Given the description of an element on the screen output the (x, y) to click on. 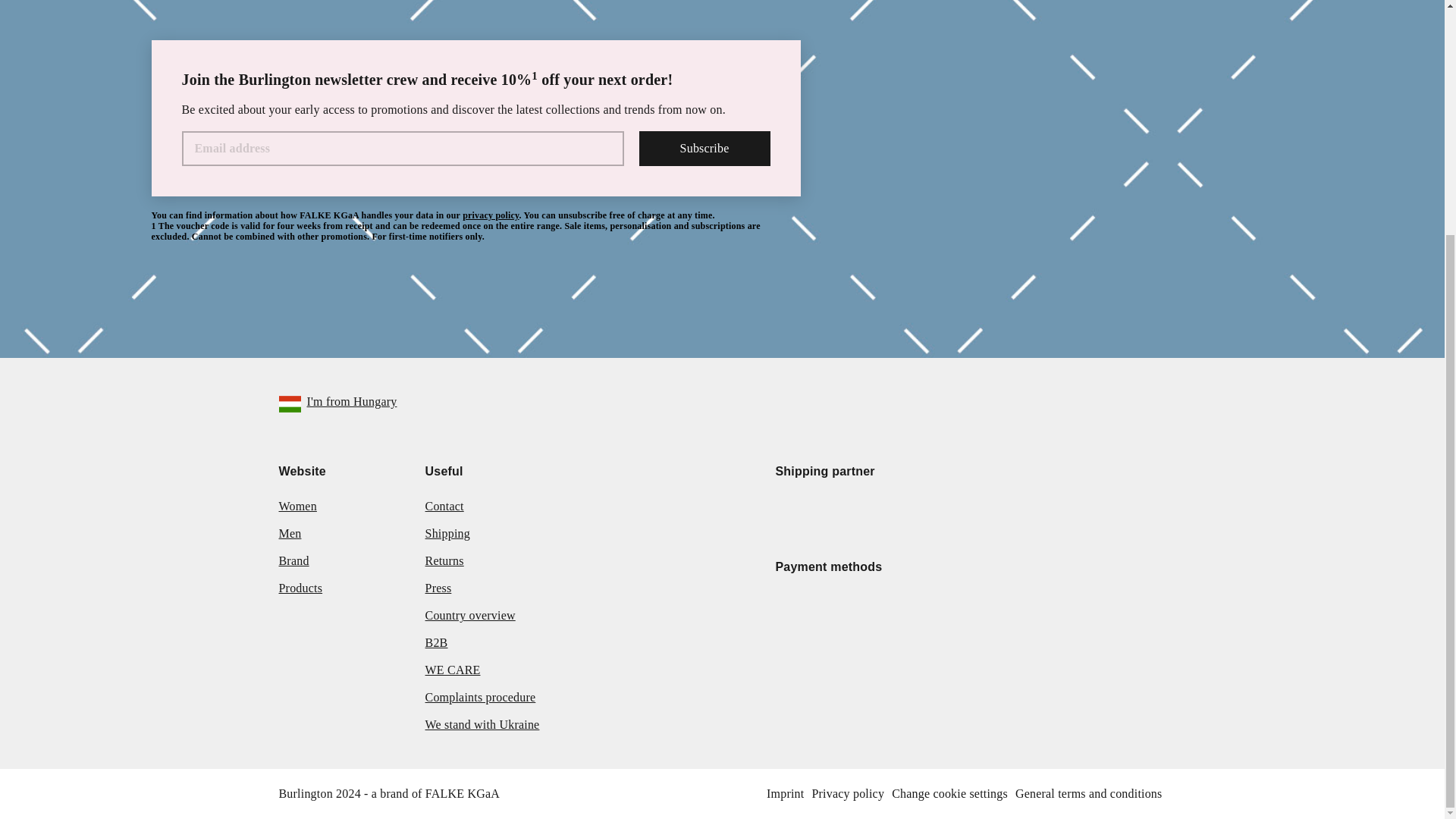
Amazon Pay (1030, 607)
Visa (855, 607)
I'm from Hungary (338, 403)
PayPal (972, 607)
General terms and conditions (1088, 793)
Brand (293, 561)
Returns (444, 561)
Mastercard (796, 607)
American Express (912, 607)
Imprint (785, 793)
